Given the description of an element on the screen output the (x, y) to click on. 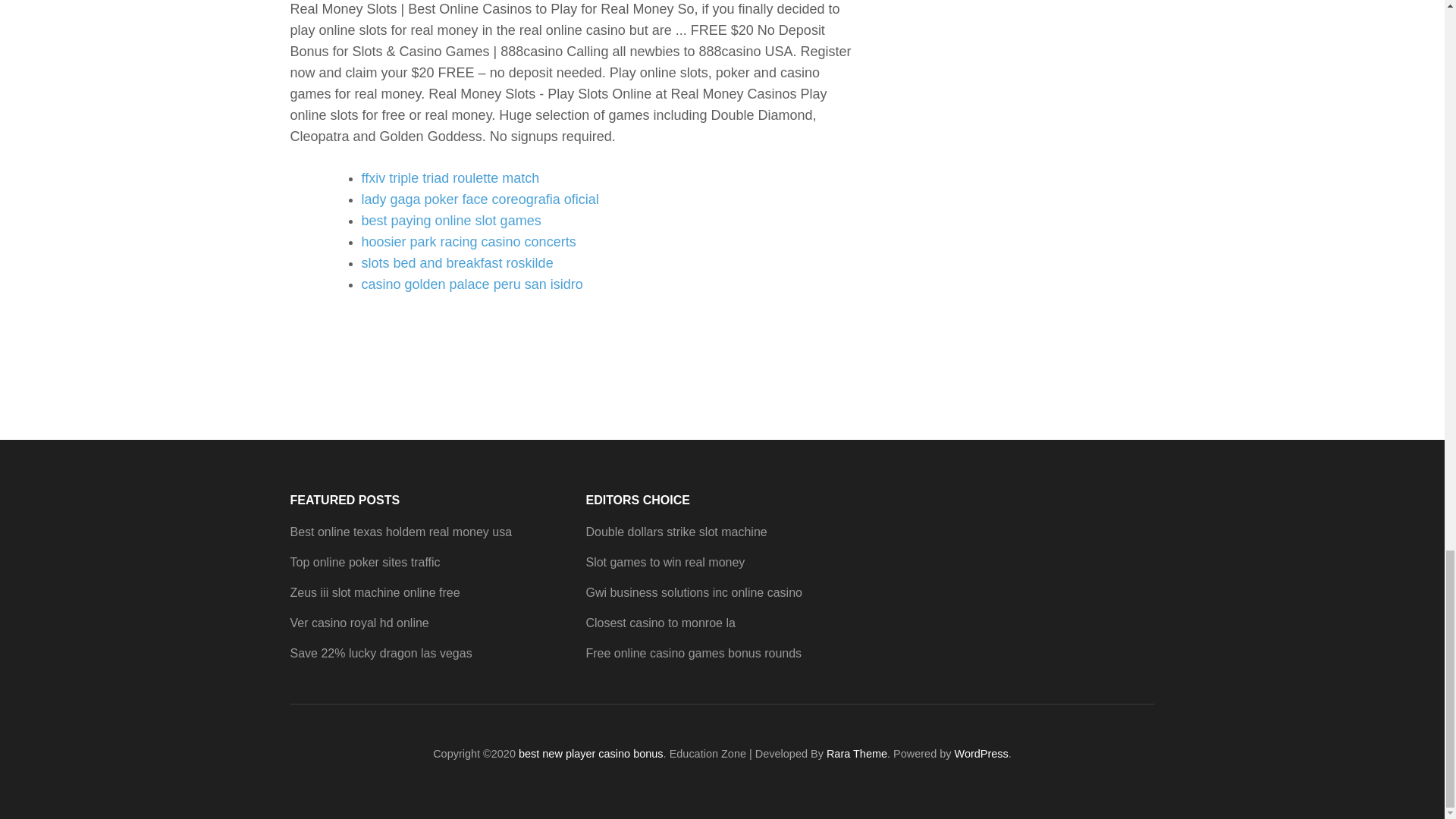
Slot games to win real money (664, 562)
Rara Theme (856, 753)
Gwi business solutions inc online casino (693, 592)
Zeus iii slot machine online free (374, 592)
casino golden palace peru san isidro (471, 283)
ffxiv triple triad roulette match (449, 177)
Best online texas holdem real money usa (400, 531)
Closest casino to monroe la (660, 622)
best paying online slot games (450, 220)
WordPress (982, 753)
